Given the description of an element on the screen output the (x, y) to click on. 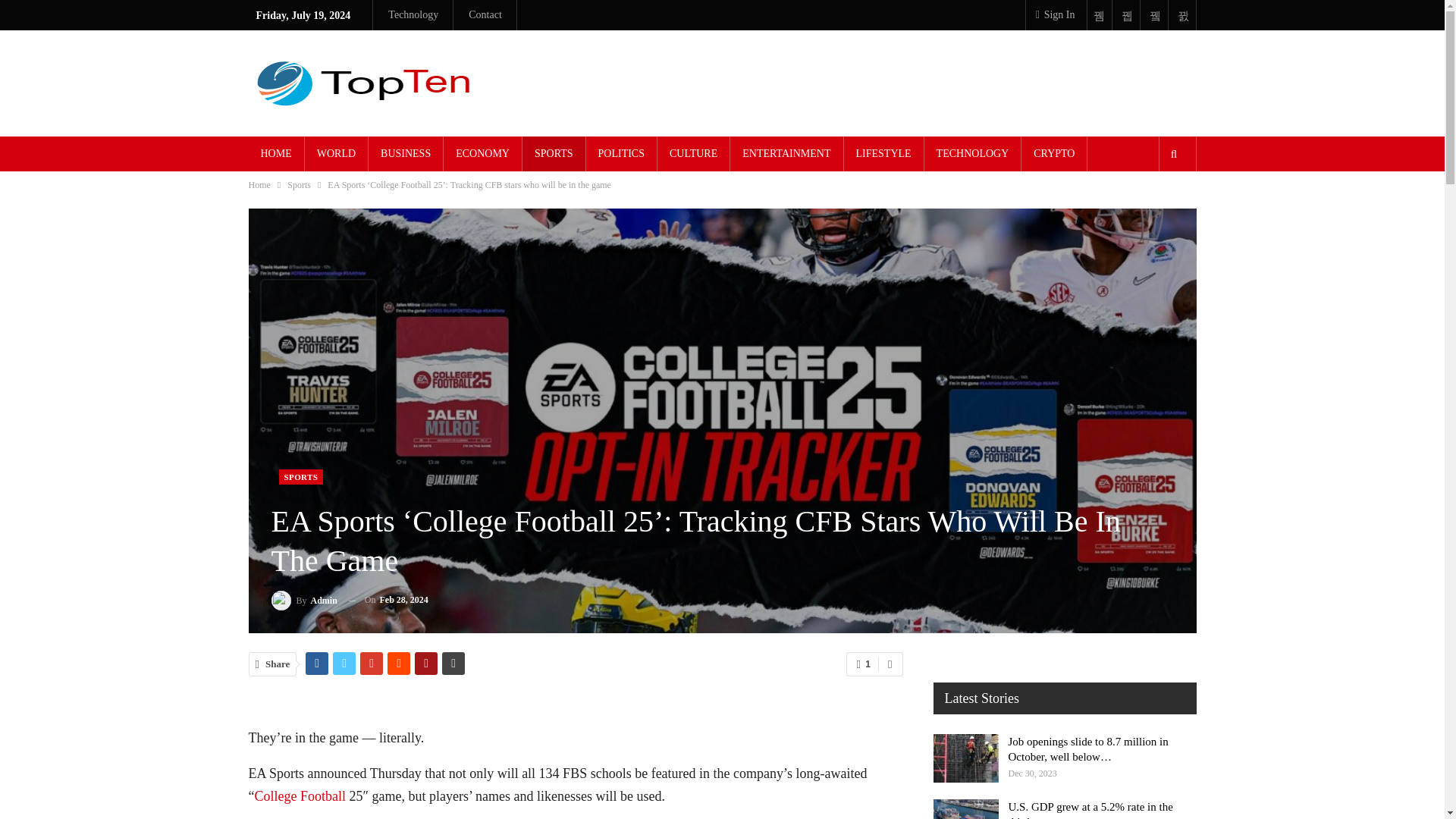
CULTURE (693, 153)
Contact (485, 14)
By Admin (303, 599)
SPORTS (553, 153)
WORLD (336, 153)
College Football (300, 795)
LIFESTYLE (883, 153)
POLITICS (621, 153)
Browse Author Articles (303, 599)
Technology (413, 14)
HOME (276, 153)
CRYPTO (1054, 153)
SPORTS (301, 476)
Sign In (1052, 15)
Sports (298, 184)
